Given the description of an element on the screen output the (x, y) to click on. 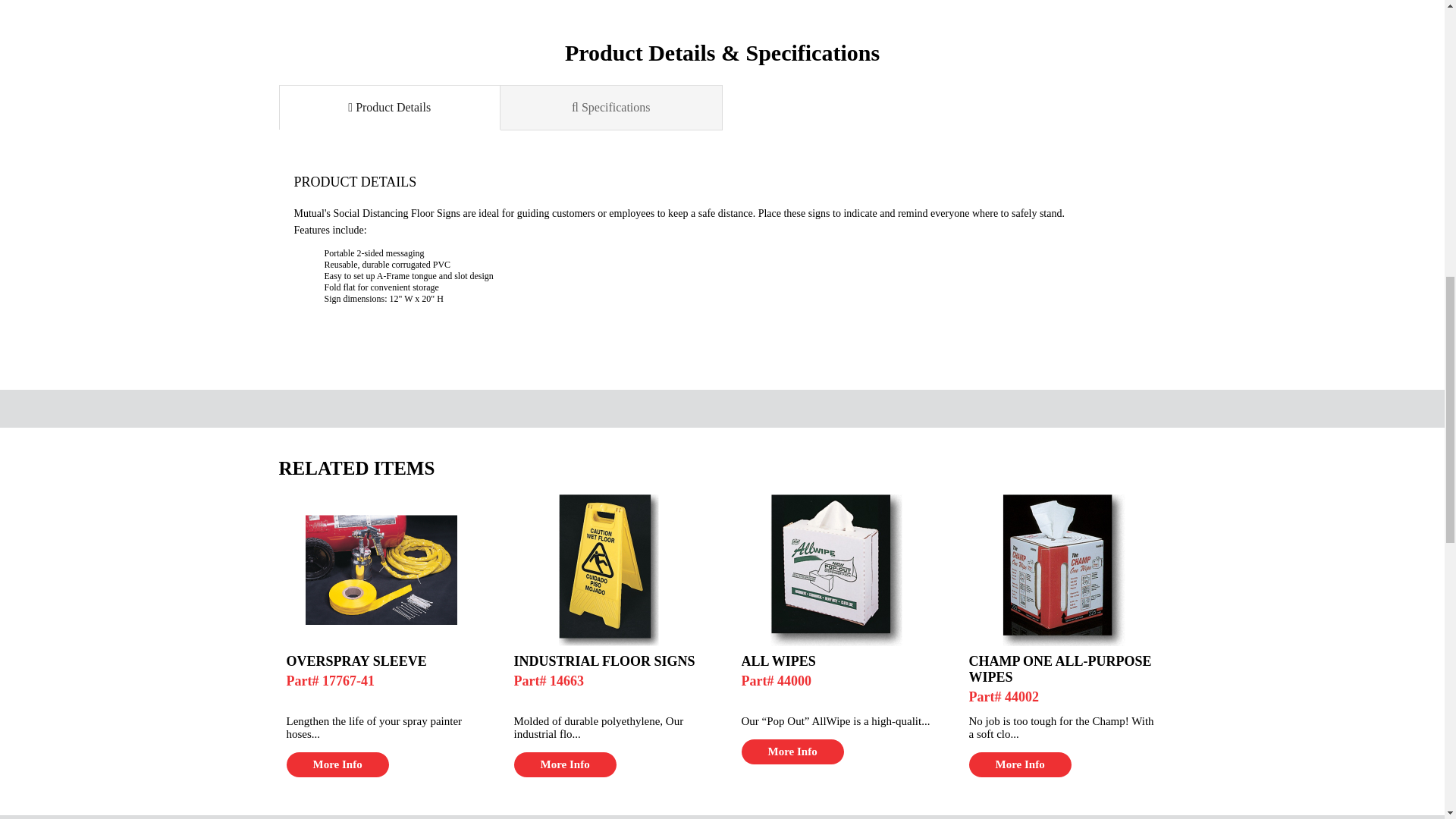
More Info (564, 764)
44002, Champ One All-Purpose Wipes, MutualIndustries (1062, 570)
ALL WIPES (836, 661)
14663, Industrial Floor Signs, MutualIndustries (608, 570)
More Info (792, 751)
More Info (337, 764)
OVERSPRAY SLEEVE (381, 661)
More Info (1020, 764)
CHAMP ONE ALL-PURPOSE WIPES (1063, 669)
44000, All Wipes, MutualIndustries (835, 570)
INDUSTRIAL FLOOR SIGNS (608, 661)
17767-41, Overspray Sleeve, MutualIndustries (380, 570)
